Given the description of an element on the screen output the (x, y) to click on. 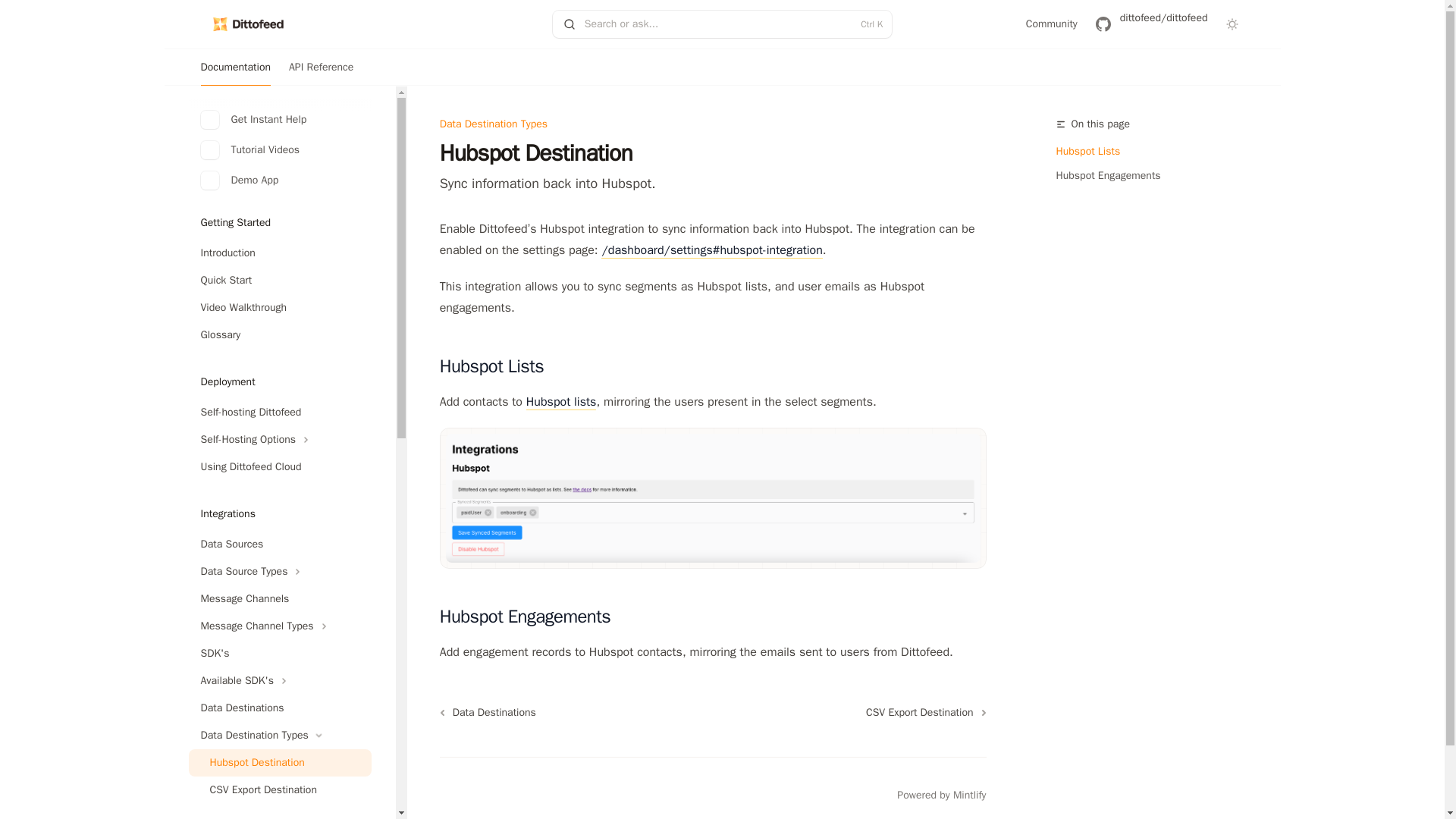
Video Walkthrough (279, 307)
Tutorial Videos (279, 149)
Community (1051, 23)
API Reference (320, 67)
Using Dittofeed Cloud (279, 466)
Demo App (279, 180)
Introduction (279, 252)
CSV Export Destination (279, 789)
Dittofeed home page (247, 24)
Hubspot Destination (279, 762)
Glossary (279, 334)
Self-hosting Dittofeed (279, 411)
Data Destinations (279, 707)
Get Instant Help (279, 119)
Data Sources (279, 543)
